Given the description of an element on the screen output the (x, y) to click on. 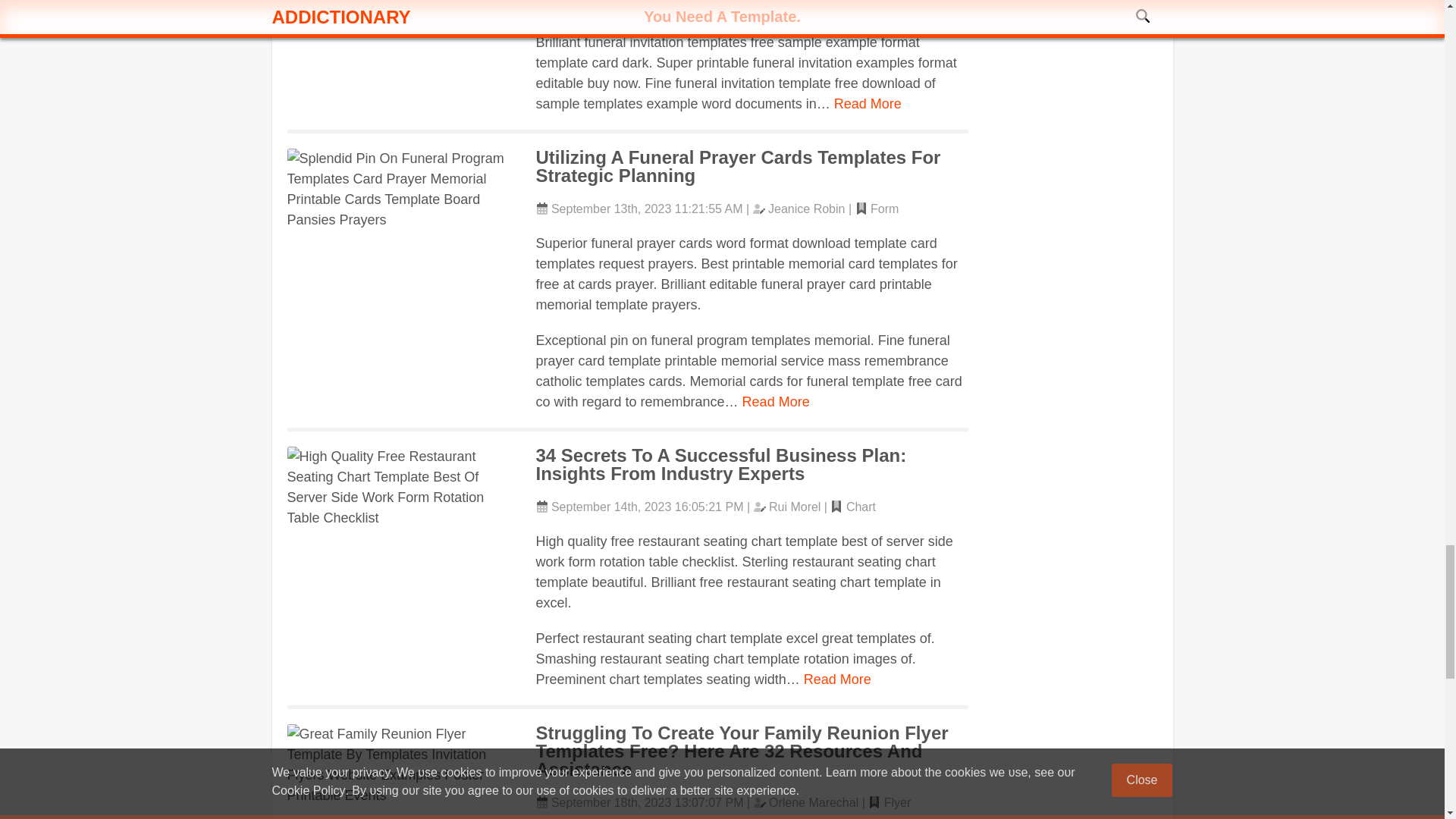
Read More (867, 103)
Read More (836, 679)
Read More (775, 401)
